Given the description of an element on the screen output the (x, y) to click on. 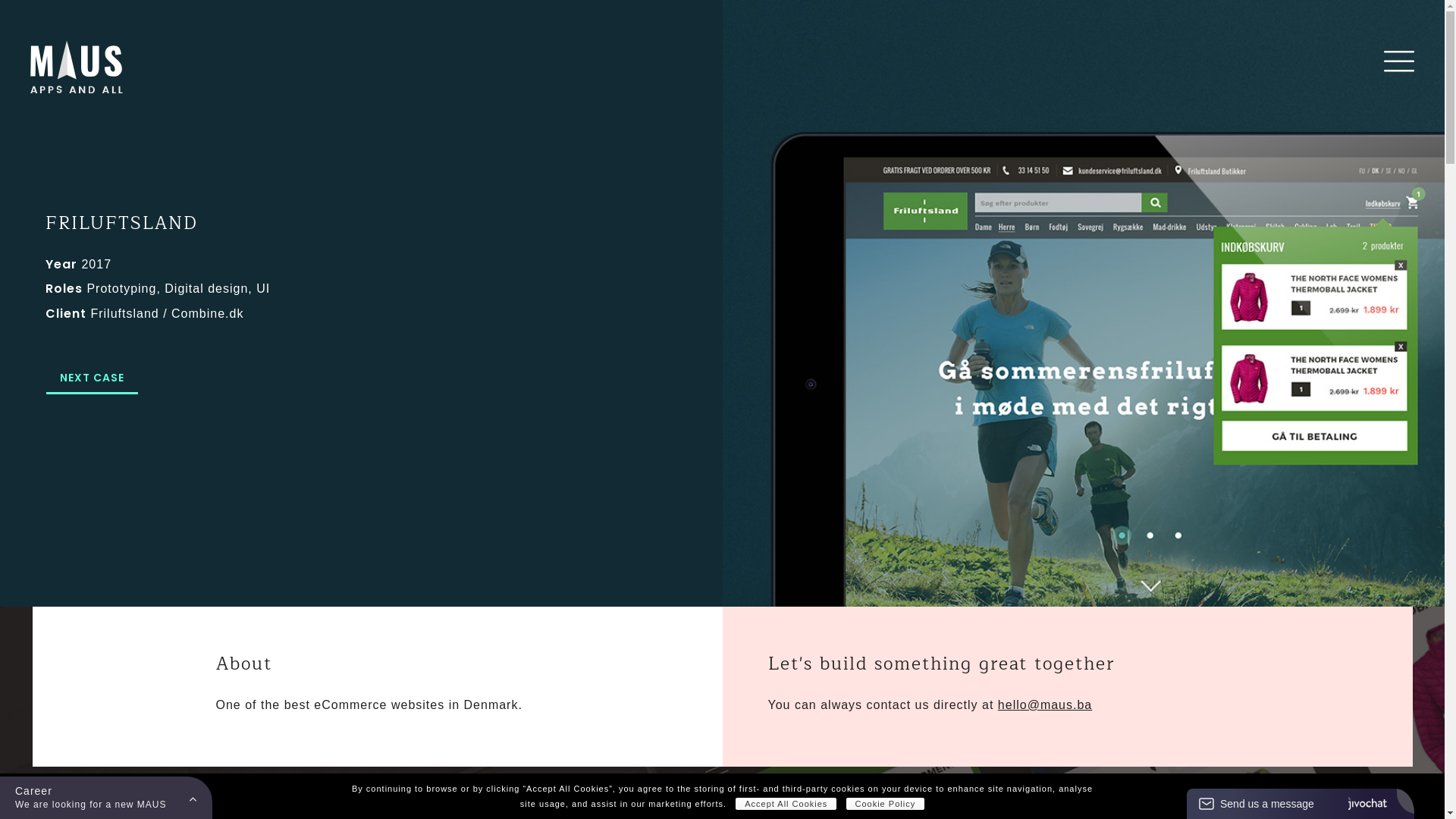
hello@maus.ba Element type: text (1044, 704)
Career
We are looking for a new MAUS Element type: text (106, 797)
Accept All Cookies Element type: text (785, 803)
NEXT CASE Element type: text (91, 377)
Cookie Policy Element type: text (885, 803)
